Given the description of an element on the screen output the (x, y) to click on. 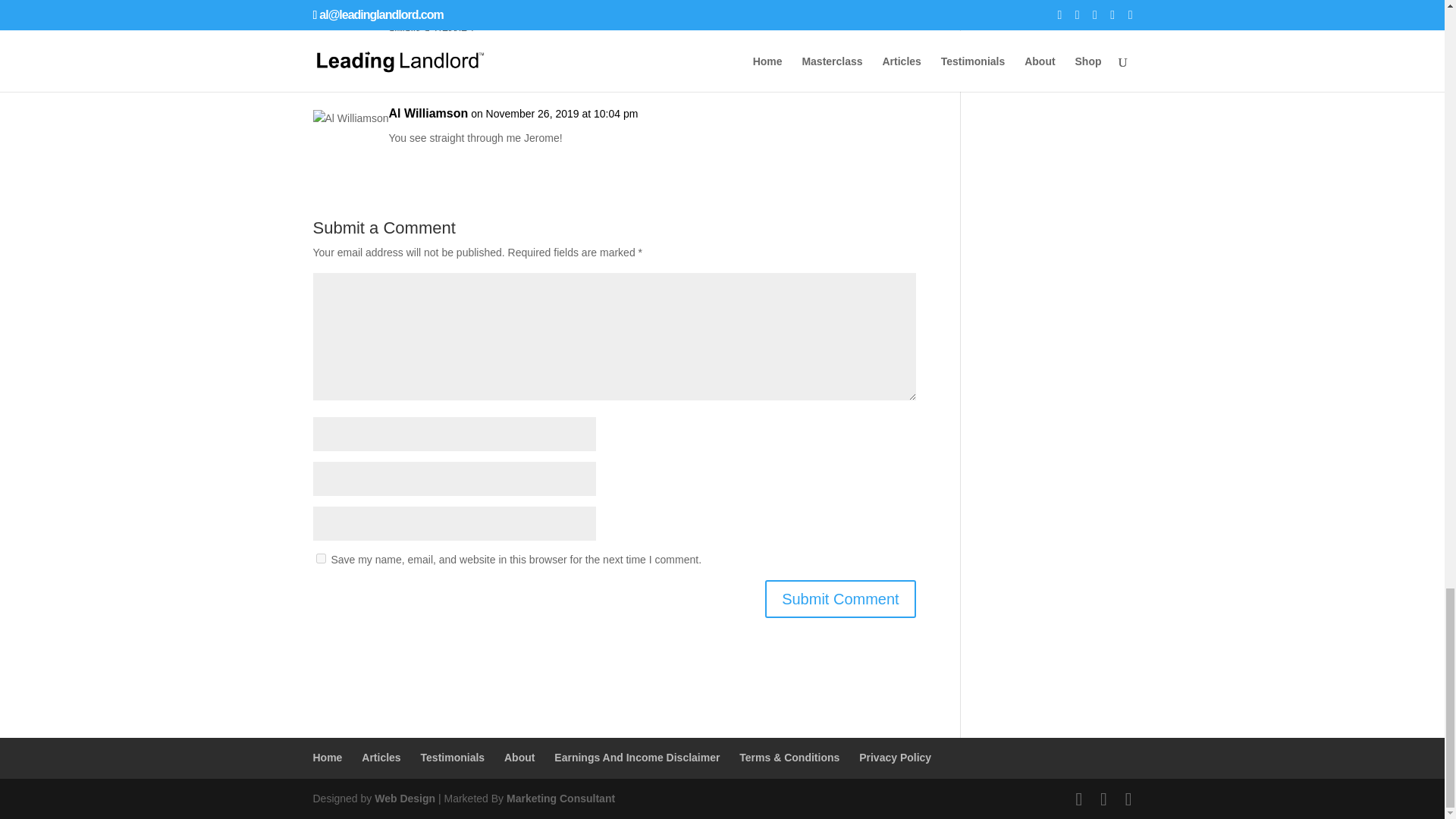
Testimonials (452, 757)
Submit Comment (840, 598)
yes (319, 558)
About (518, 757)
Al Williamson (427, 113)
Home (327, 757)
Submit Comment (840, 598)
Earnings And Income Disclaimer (636, 757)
Articles (380, 757)
Privacy Policy (895, 757)
